Given the description of an element on the screen output the (x, y) to click on. 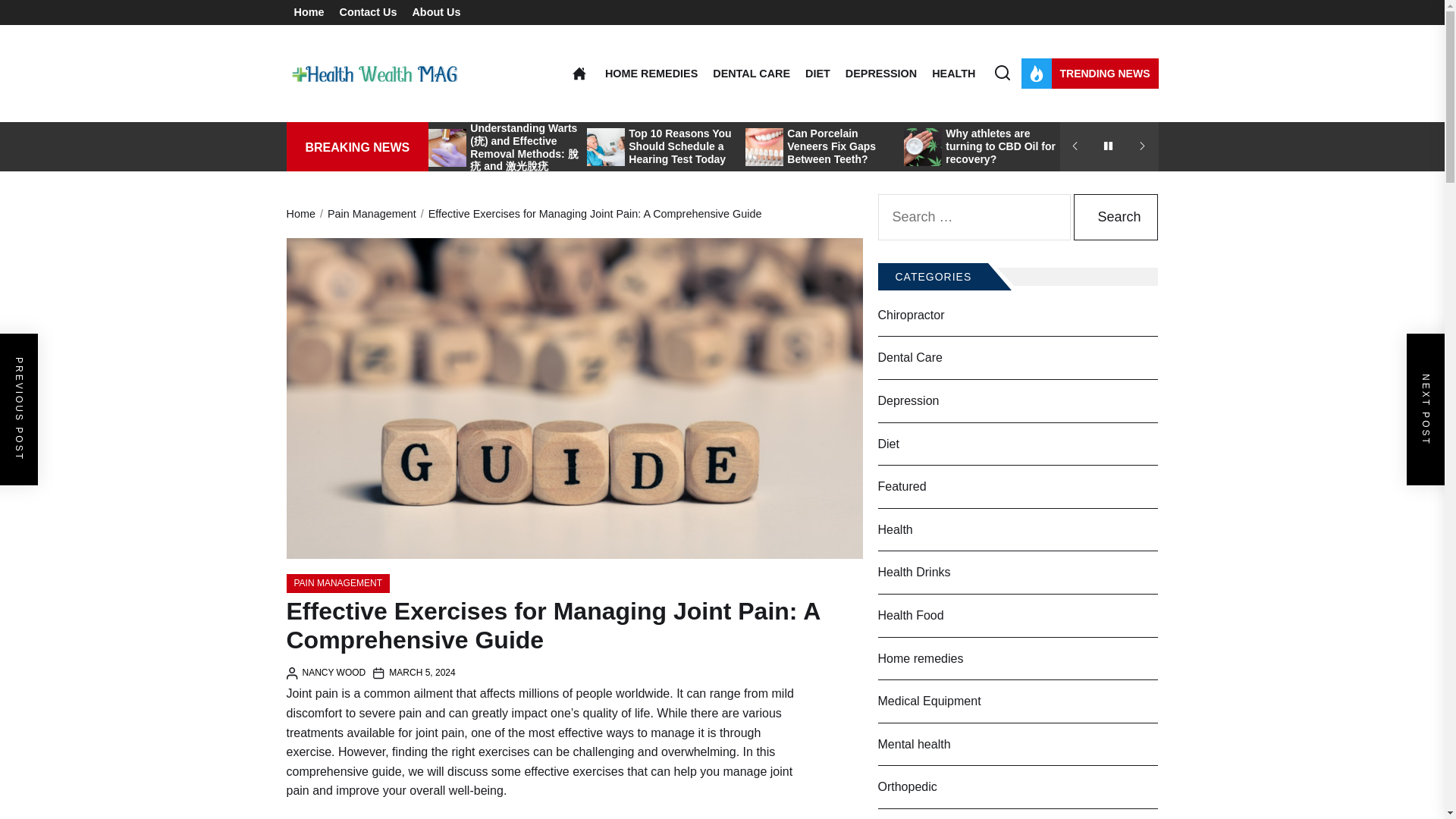
HOME REMEDIES (651, 73)
DIET (817, 73)
DENTAL CARE (751, 73)
TRENDING NEWS (1088, 73)
DEPRESSION (881, 73)
Home (309, 12)
Search (1115, 217)
Contact Us (367, 12)
HEALTH (953, 73)
About Us (436, 12)
